Given the description of an element on the screen output the (x, y) to click on. 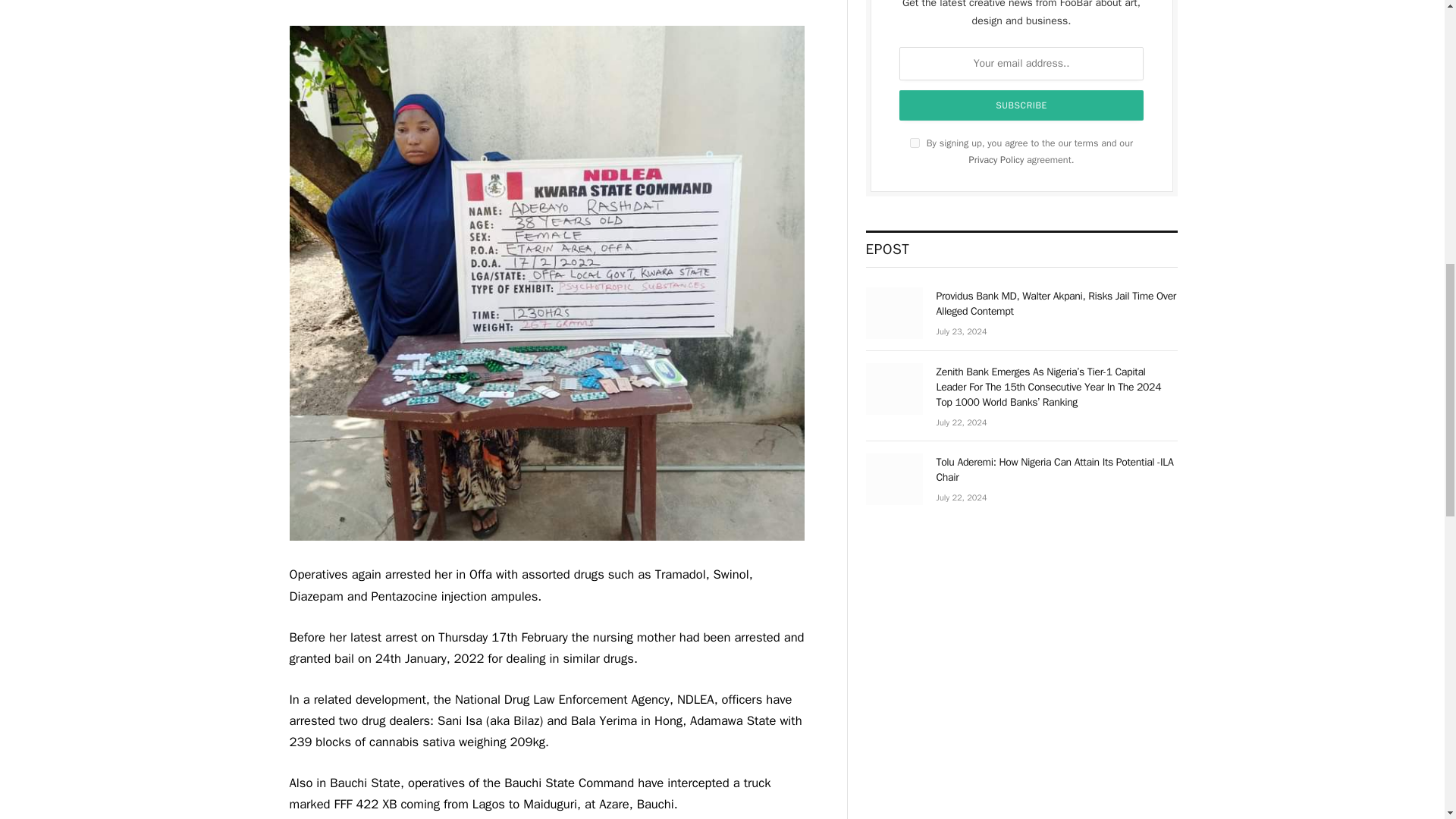
on (915, 143)
Subscribe (1020, 105)
